Given the description of an element on the screen output the (x, y) to click on. 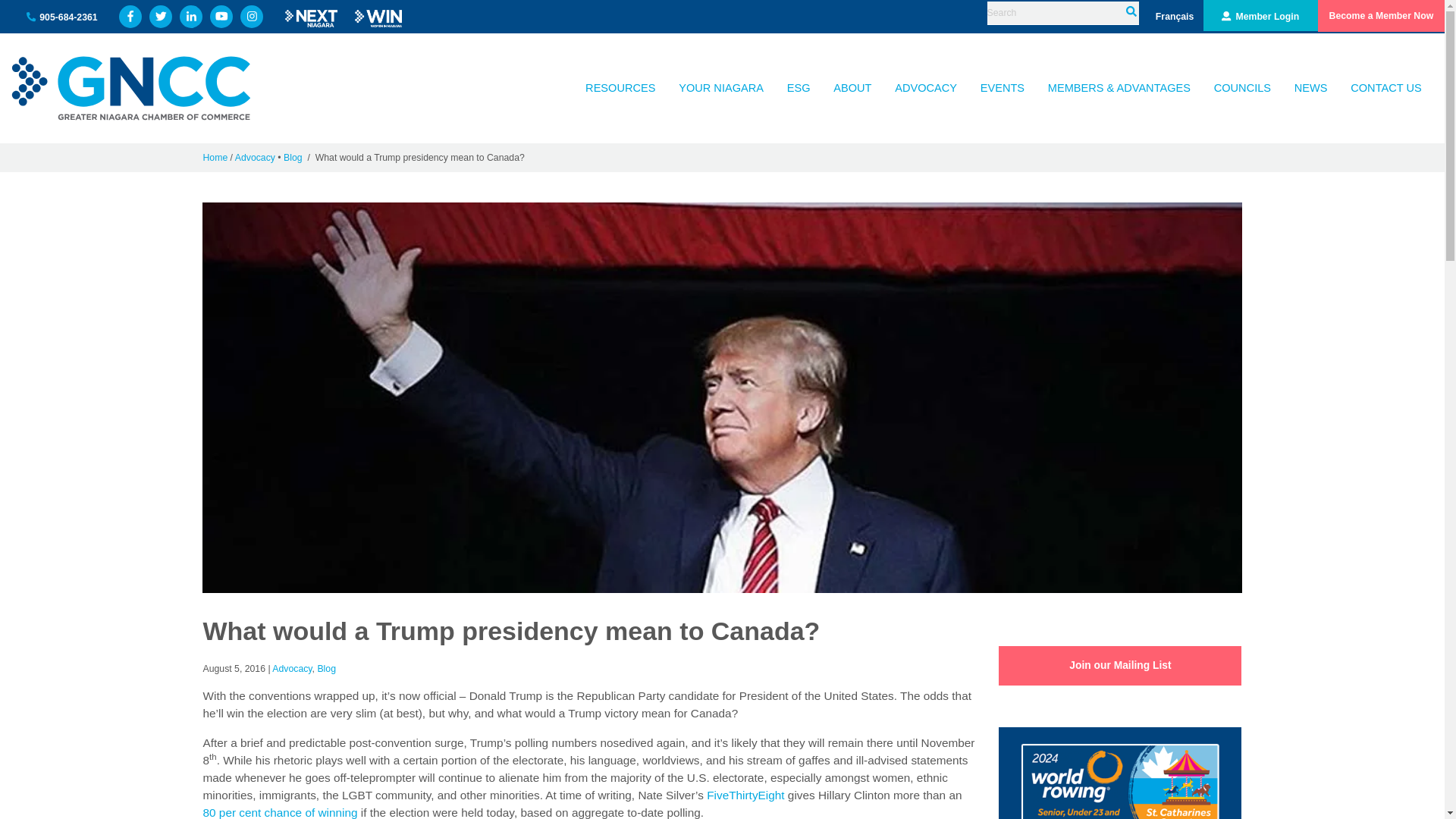
Search for: (1062, 13)
